Given the description of an element on the screen output the (x, y) to click on. 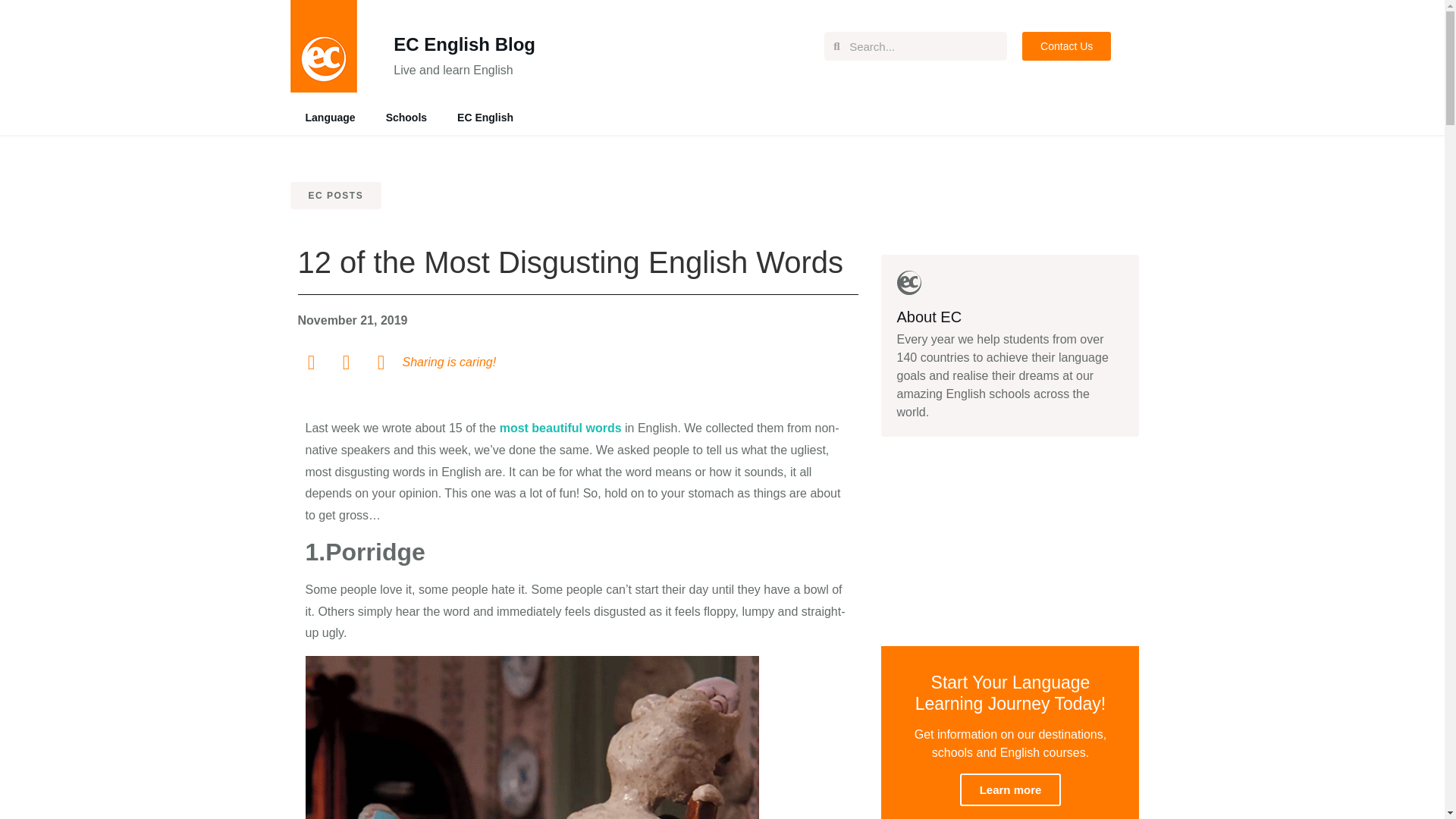
Contact Us (1066, 45)
Schools (406, 117)
Language (329, 117)
EC English (485, 117)
